Given the description of an element on the screen output the (x, y) to click on. 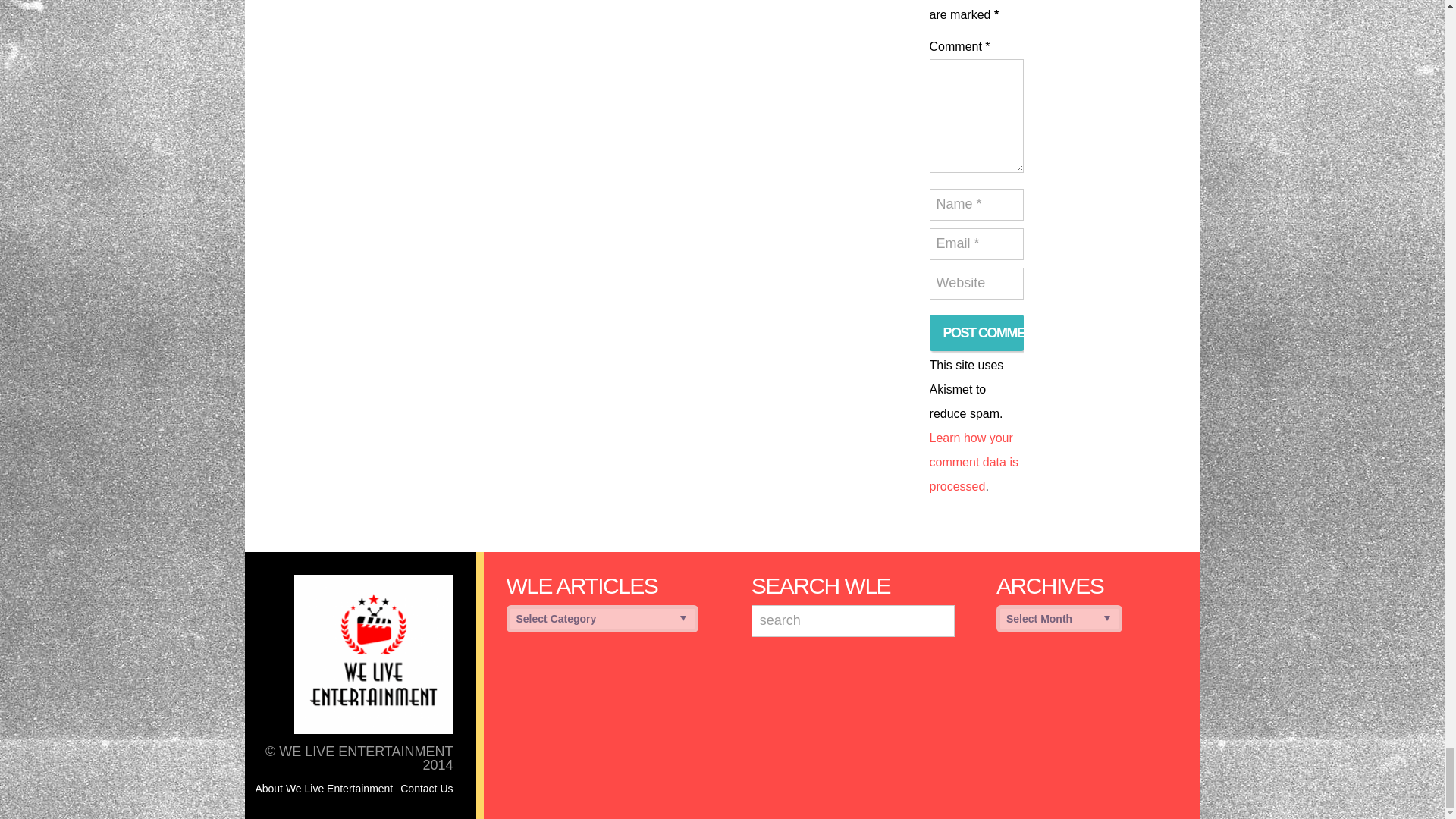
Post Comment (977, 332)
